Given the description of an element on the screen output the (x, y) to click on. 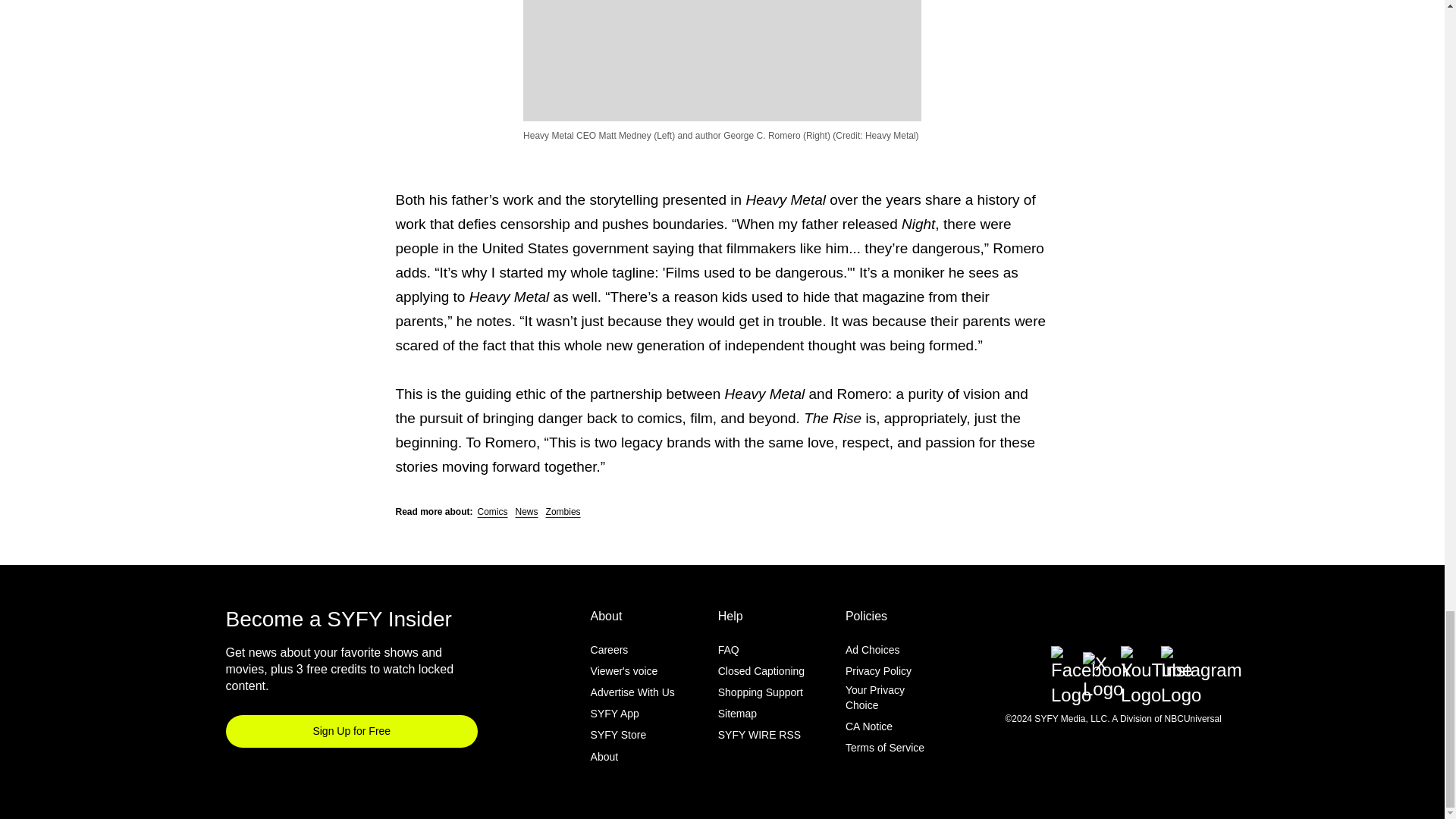
Advertise With Us (633, 692)
Comics (492, 511)
News (526, 511)
Zombies (563, 511)
